Given the description of an element on the screen output the (x, y) to click on. 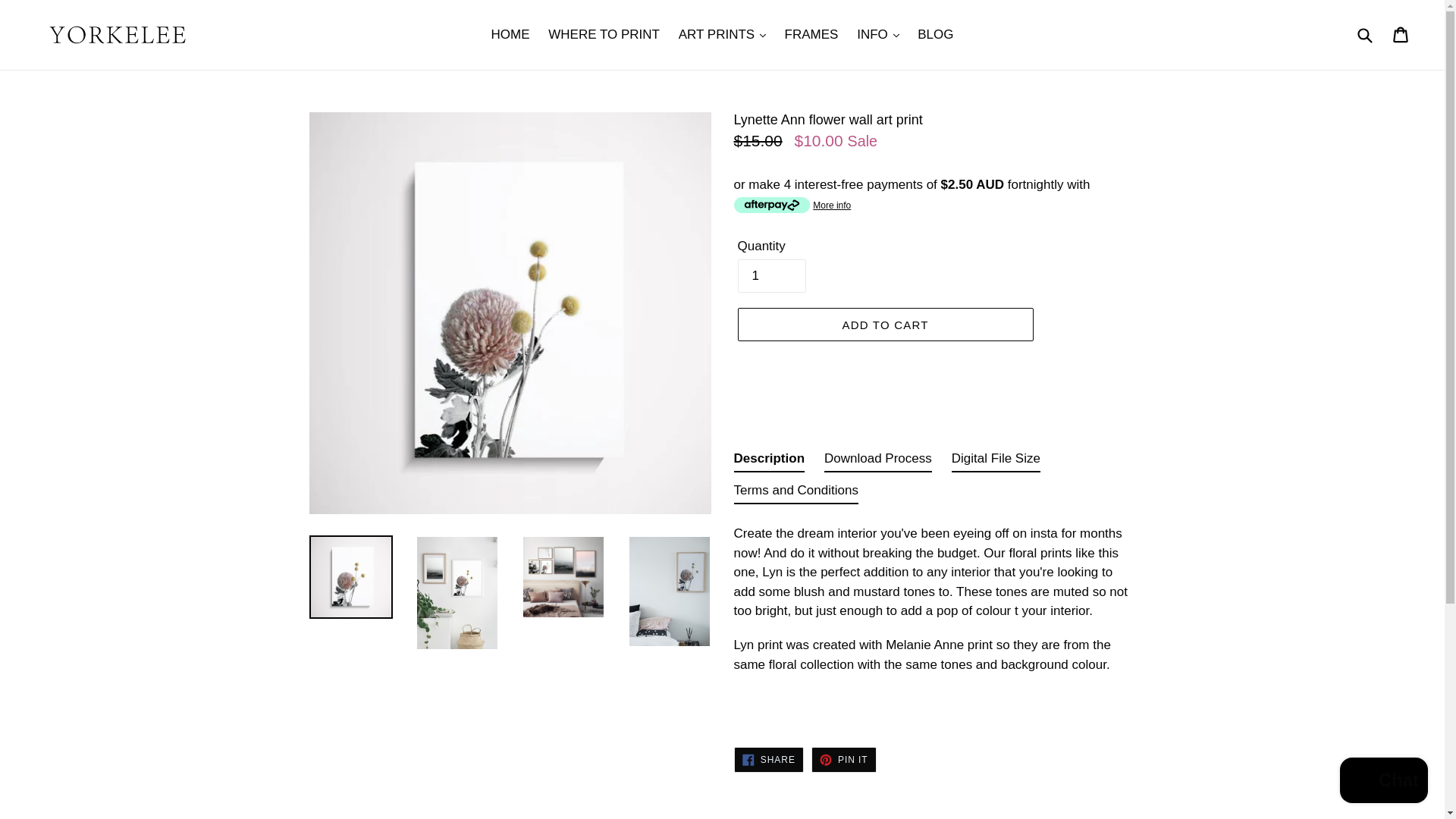
WHERE TO PRINT (603, 34)
Pin on Pinterest (843, 759)
Shopify online store chat (1383, 781)
1 (770, 275)
HOME (510, 34)
Share on Facebook (768, 759)
